Given the description of an element on the screen output the (x, y) to click on. 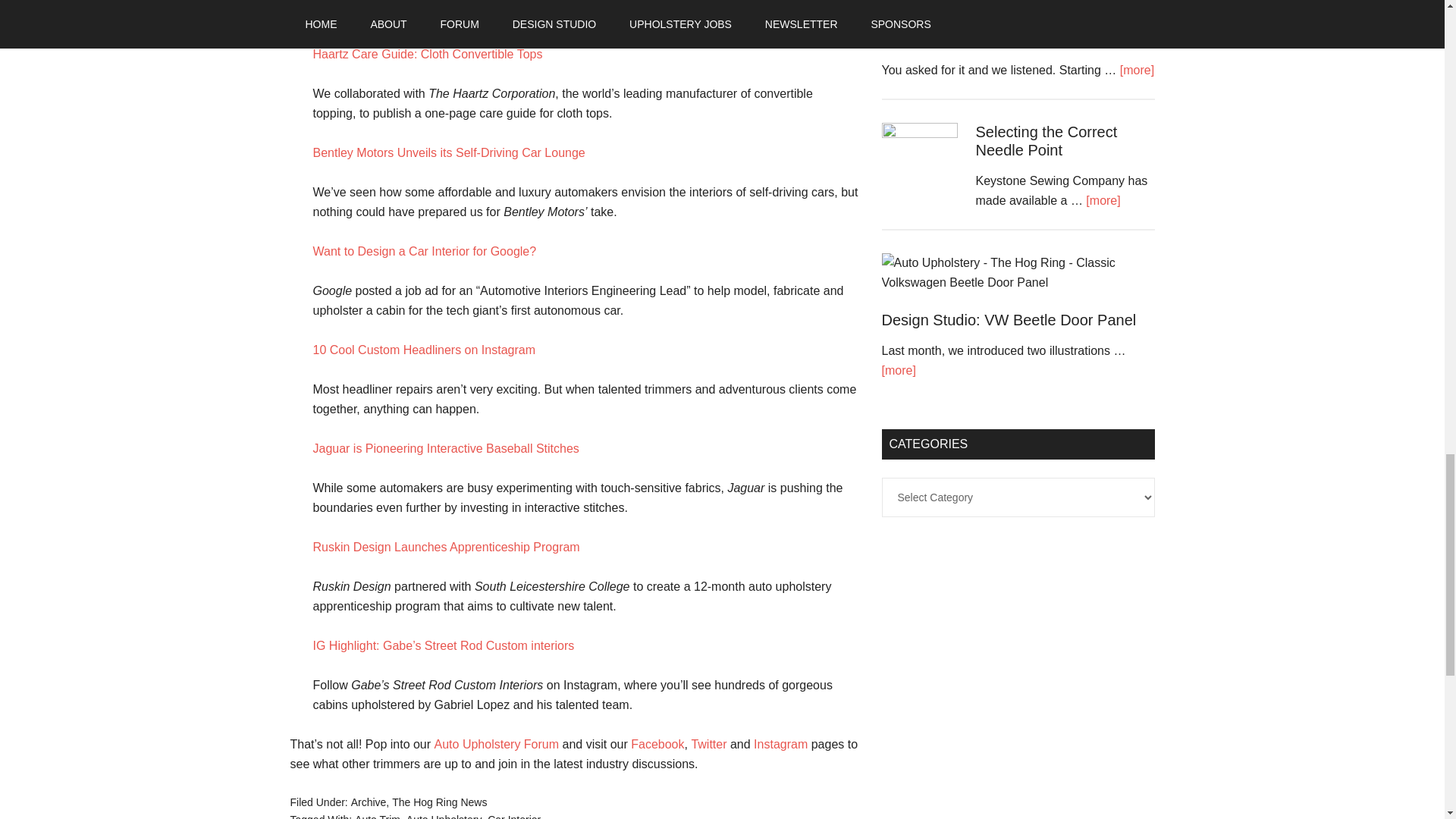
Ruskin Design Launches Apprenticeship Program (446, 546)
Archive (368, 802)
Jaguar is Pioneering Interactive Baseball Stitches (445, 448)
10 Cool Custom Headliners on Instagram (423, 349)
Haartz Care Guide: Cloth Convertible Tops (427, 53)
Instagram (781, 744)
Twitter (708, 744)
Want to Design a Car Interior for Google? (424, 250)
Auto Upholstery Forum (496, 744)
Facebook (657, 744)
Bentley Motors Unveils its Self-Driving Car Lounge (449, 152)
